Given the description of an element on the screen output the (x, y) to click on. 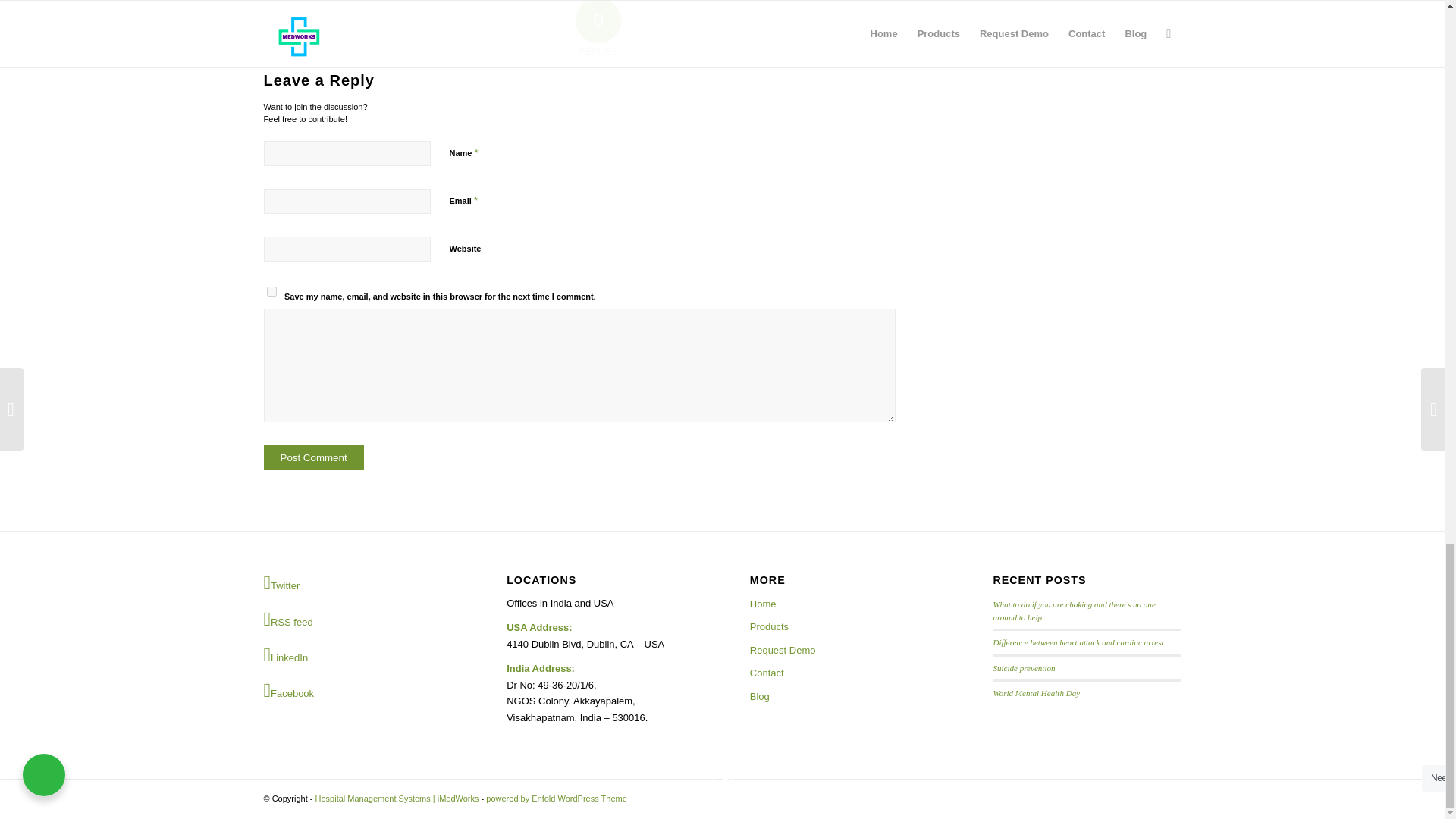
LinkedIn (357, 655)
Request Demo (843, 650)
Products (843, 626)
yes (271, 291)
Post Comment (313, 457)
Post Comment (313, 457)
RSS feed (357, 619)
Facebook (357, 690)
Contact (843, 672)
Twitter (357, 583)
